Given the description of an element on the screen output the (x, y) to click on. 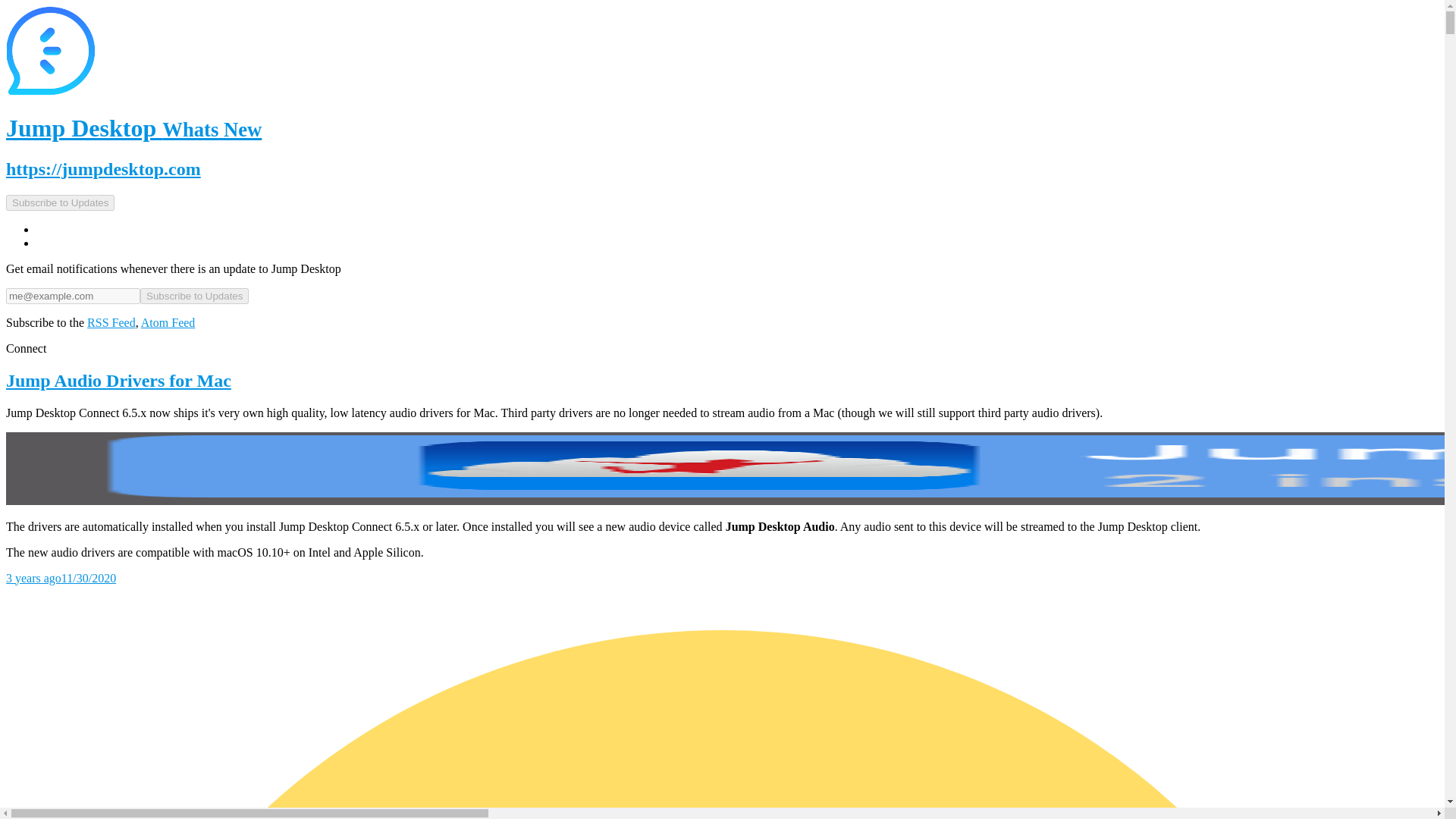
Atom Feed (168, 322)
Subscribe to Updates (193, 295)
Jump Desktop Whats New (133, 127)
RSS Feed (111, 322)
Subscribe to Updates (193, 295)
Jump Audio Drivers for Mac (721, 381)
Subscribe to Updates (60, 202)
